Given the description of an element on the screen output the (x, y) to click on. 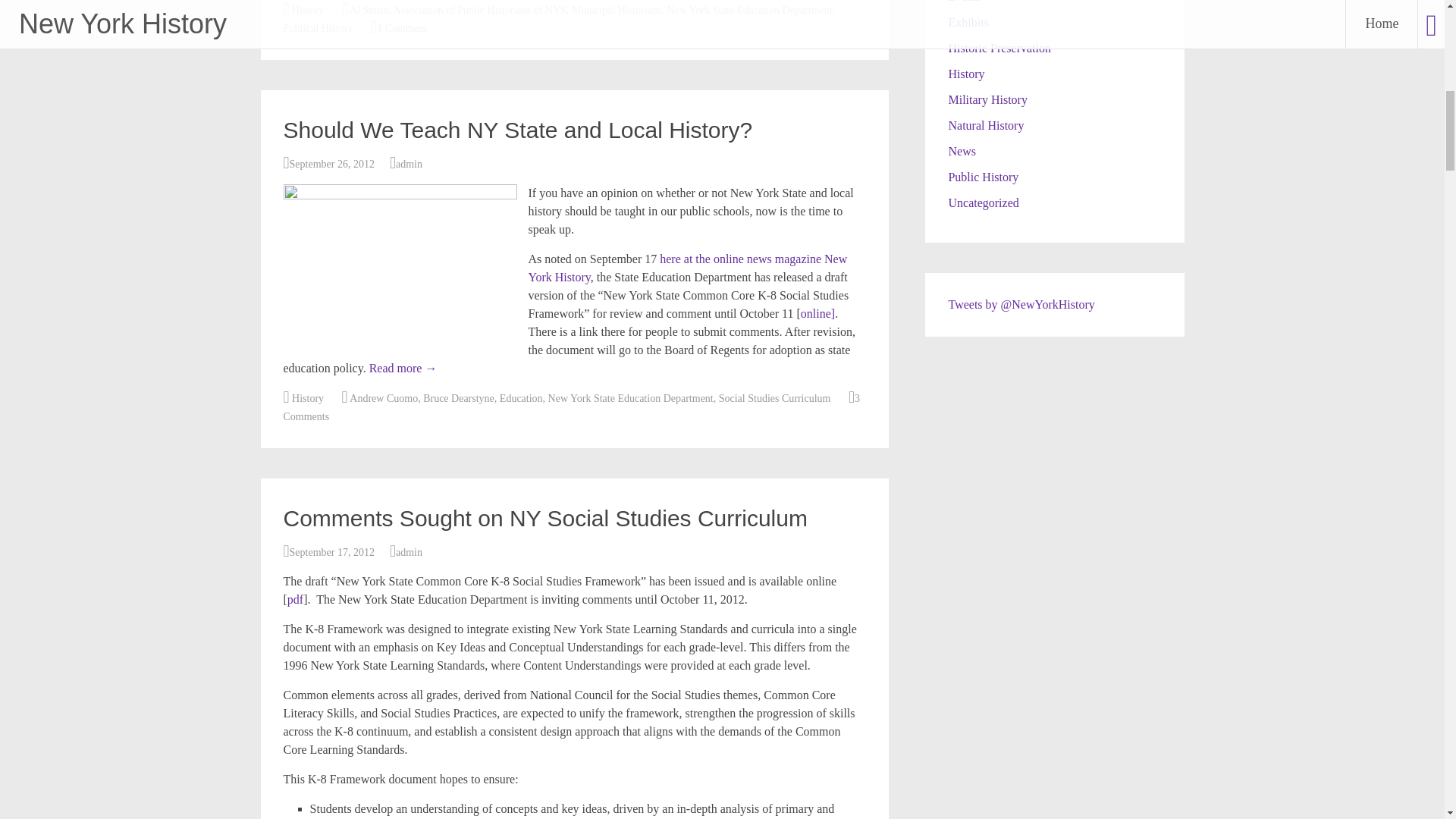
History (307, 398)
Political History (318, 28)
Comments Sought on NY Social Studies Curriculum (545, 518)
New York State Education Department (748, 9)
pdf (294, 599)
Education (521, 398)
1 Comment (401, 28)
New York State Education Department (630, 398)
Municipal Historians (617, 9)
Al Smith (368, 9)
admin (409, 163)
September 26, 2012 (331, 163)
Social Studies Curriculum (775, 398)
September 17, 2012 (331, 552)
admin (409, 552)
